Given the description of an element on the screen output the (x, y) to click on. 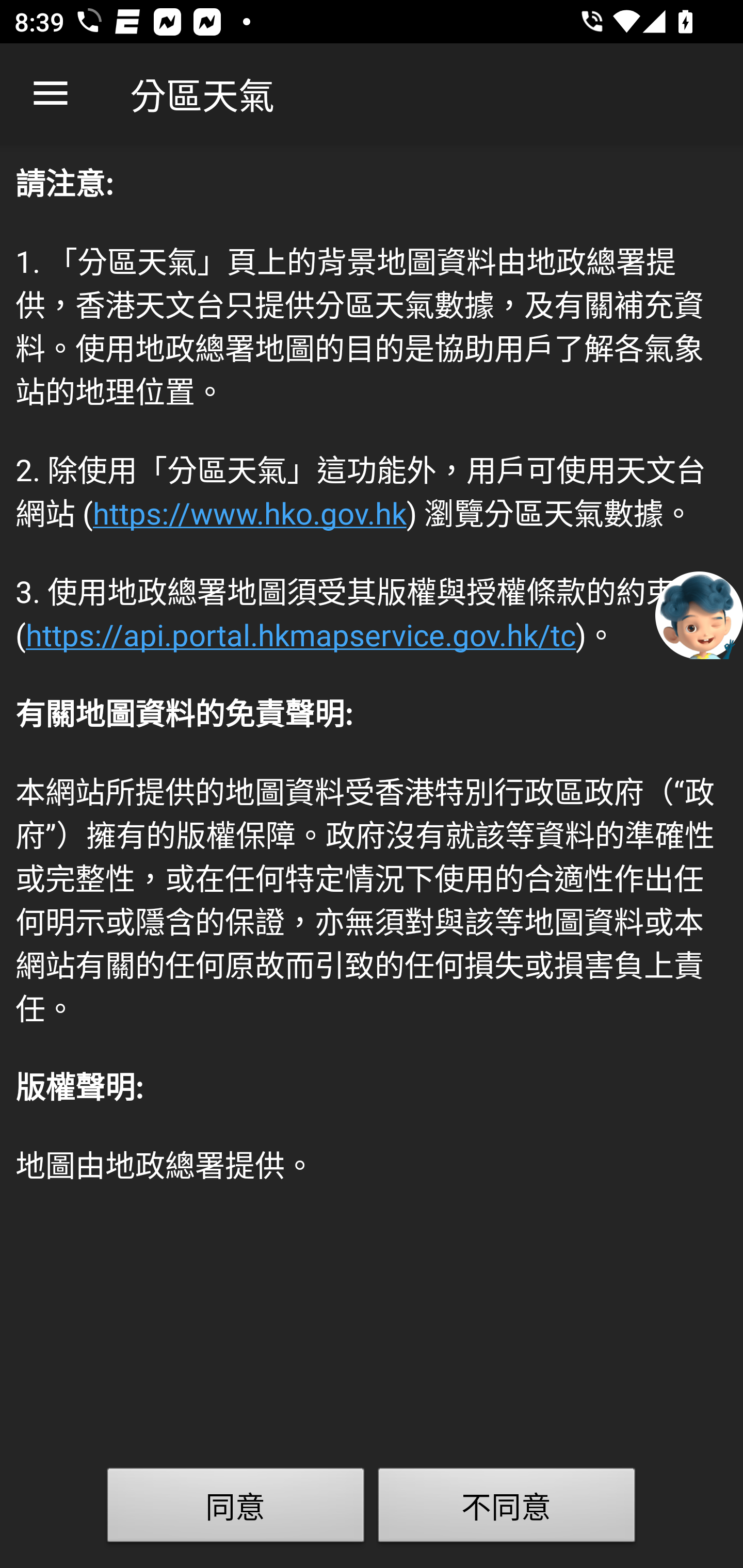
向上瀏覽 (50, 93)
聊天機械人 (699, 614)
同意 (235, 1509)
不同意 (506, 1509)
